Given the description of an element on the screen output the (x, y) to click on. 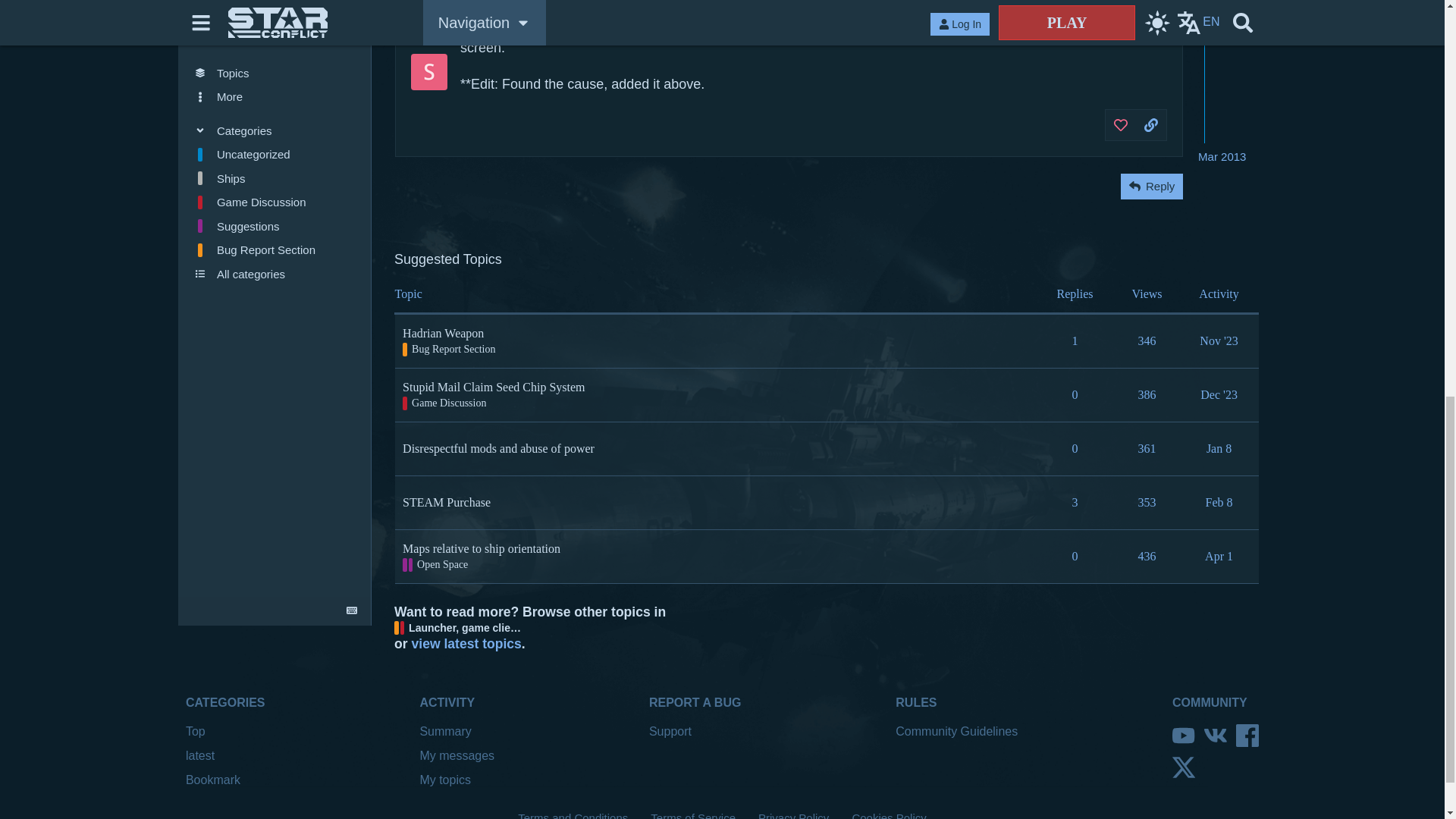
Dec '23 (1218, 394)
Reply (1151, 186)
Disrespectful mods and abuse of power (498, 448)
Bug Report Section (449, 349)
Stupid Mail Claim Seed Chip System (494, 386)
Nov '23 (1218, 340)
Game Discussion (444, 403)
Hadrian Weapon (443, 333)
